Given the description of an element on the screen output the (x, y) to click on. 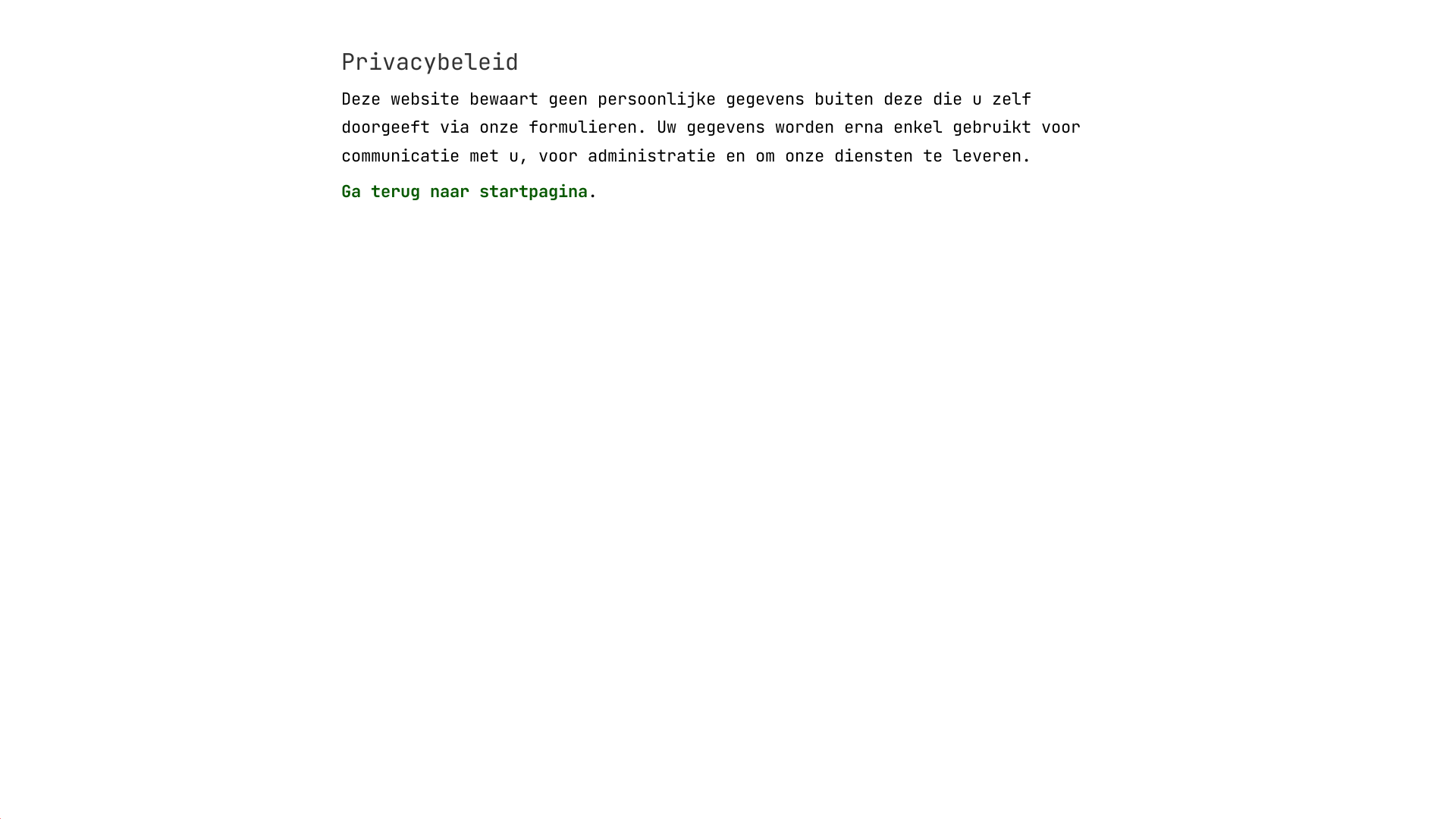
Ga terug naar startpagina Element type: text (464, 191)
